Given the description of an element on the screen output the (x, y) to click on. 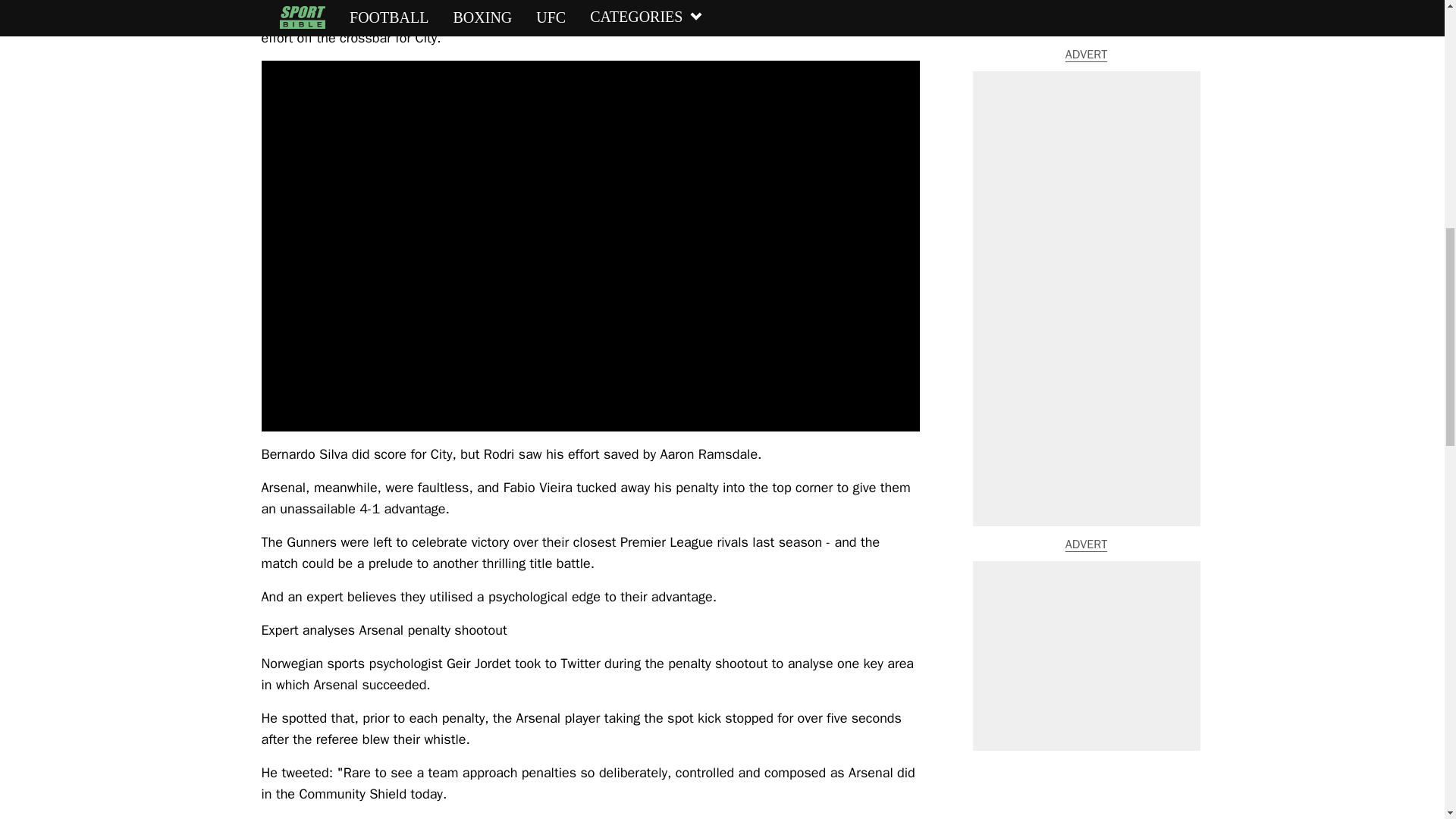
3rd party ad content (1085, 78)
